Given the description of an element on the screen output the (x, y) to click on. 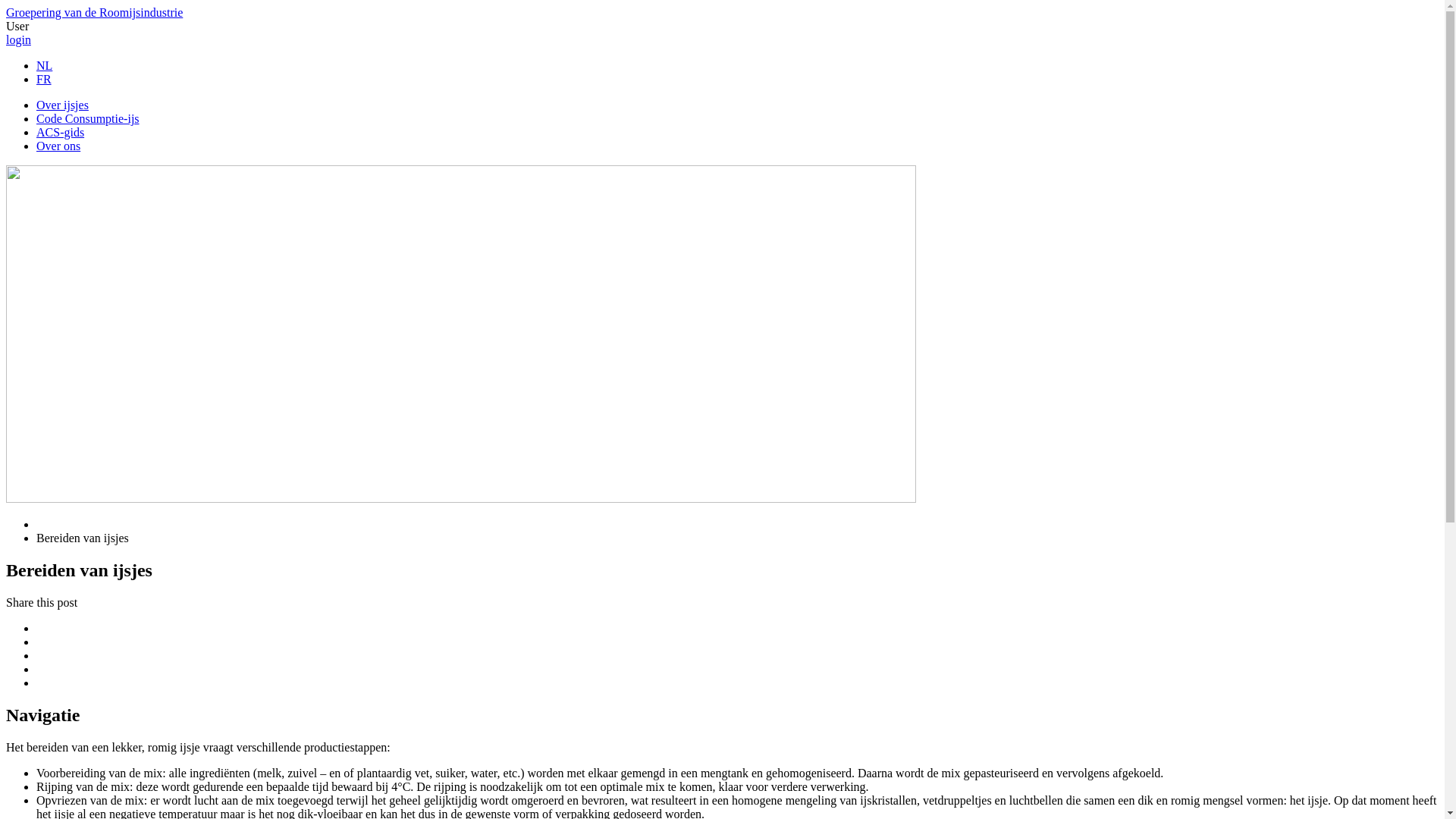
NL Element type: text (44, 65)
login Element type: text (18, 39)
ACS-gids Element type: text (60, 131)
Code Consumptie-ijs Element type: text (87, 118)
Over ijsjes Element type: text (62, 104)
FR Element type: text (43, 78)
Groepering van de Roomijsindustrie Element type: text (94, 12)
Over ons Element type: text (58, 145)
